Given the description of an element on the screen output the (x, y) to click on. 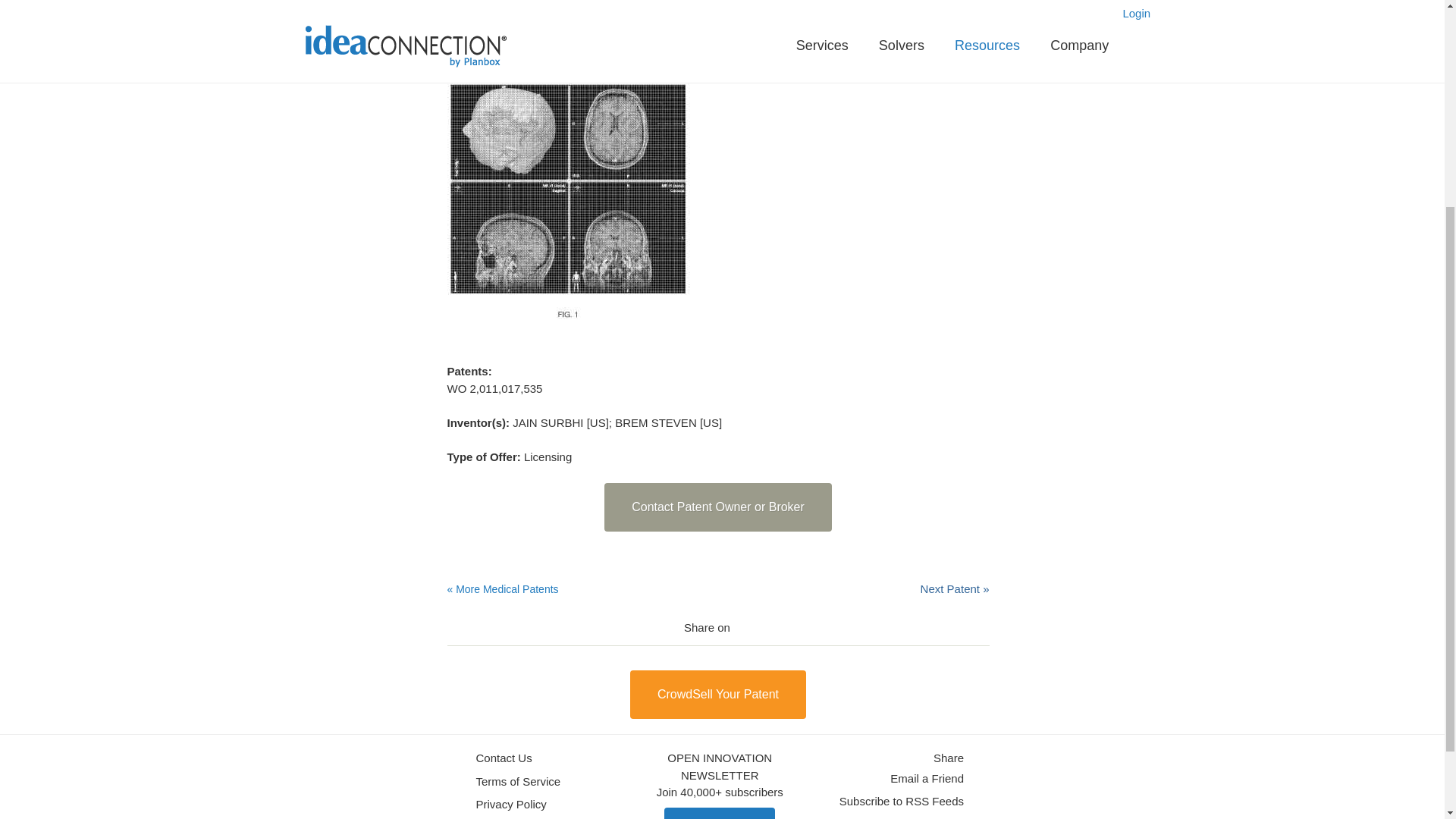
CrowdSell Your Patent (718, 694)
Contact Patent Owner or Broker (717, 506)
Contact Us (504, 758)
Terms of Service (518, 782)
Subscribe to RSS Feeds (901, 801)
Privacy Policy (511, 805)
Email a Friend (926, 778)
